Given the description of an element on the screen output the (x, y) to click on. 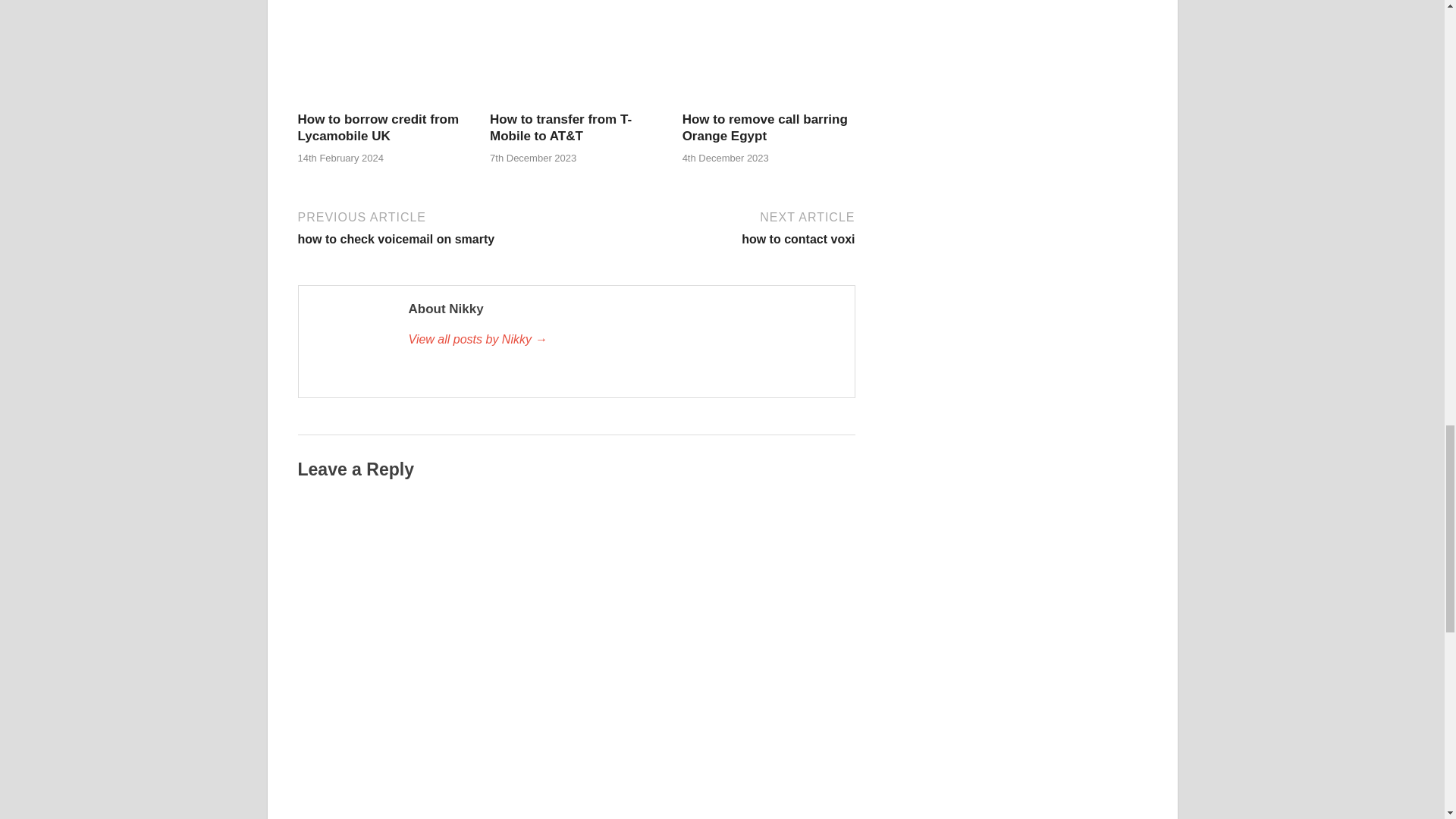
How to borrow credit from Lycamobile UK (377, 127)
How to borrow credit from Lycamobile UK (377, 127)
How to borrow credit from Lycamobile UK (383, 101)
